Given the description of an element on the screen output the (x, y) to click on. 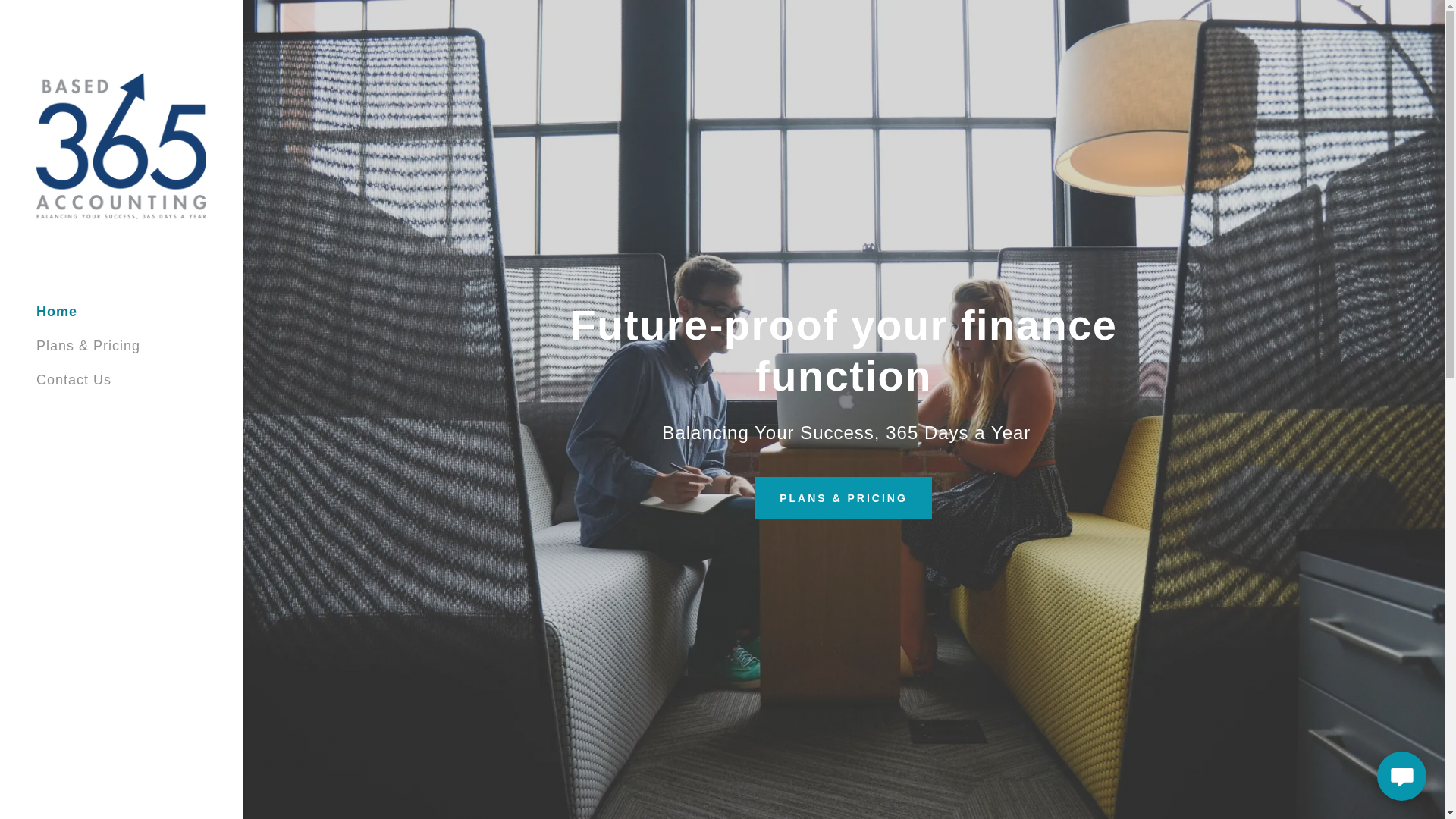
Contact Us (74, 379)
Home (56, 311)
